Given the description of an element on the screen output the (x, y) to click on. 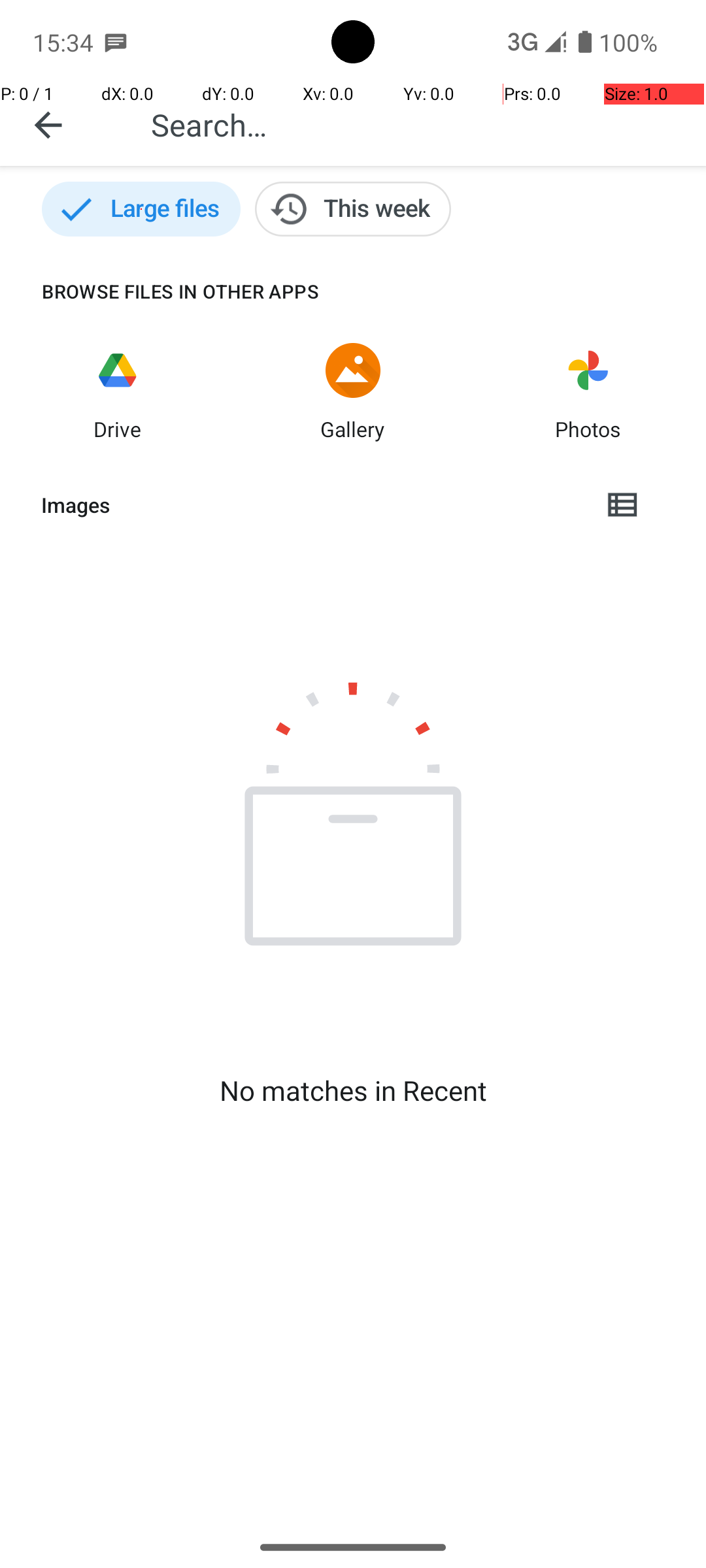
BROWSE FILES IN OTHER APPS Element type: android.widget.TextView (159, 291)
No matches in Recent Element type: android.widget.TextView (352, 1089)
Drive Element type: android.widget.TextView (117, 428)
Gallery Element type: android.widget.TextView (352, 428)
